Given the description of an element on the screen output the (x, y) to click on. 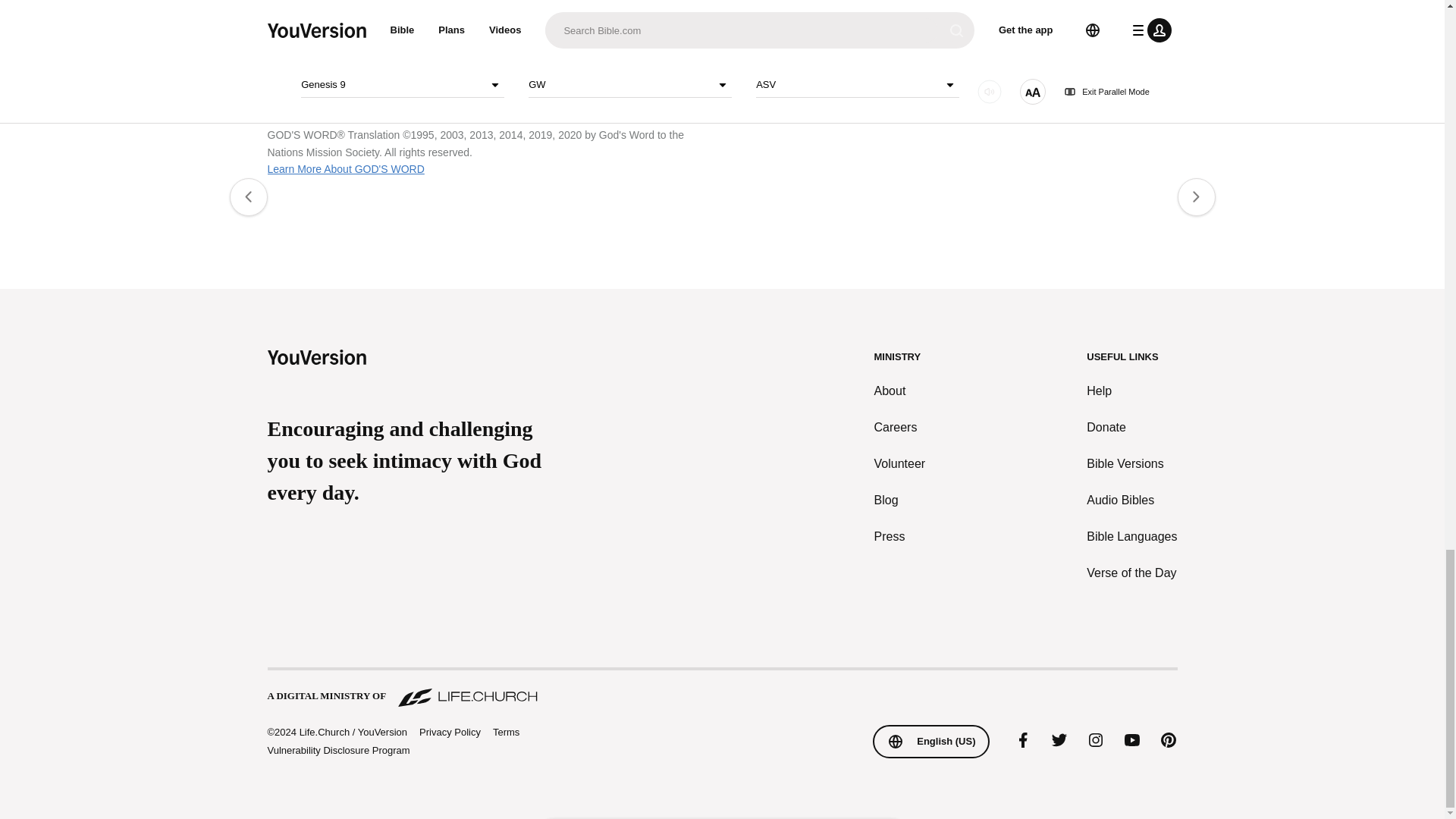
Bible Languages (1131, 536)
Press (900, 536)
Audio Bibles (1131, 500)
Blog (900, 500)
Privacy Policy (449, 732)
Volunteer (900, 464)
Verse of the Day (1131, 573)
A DIGITAL MINISTRY OF (721, 688)
Donate (1131, 427)
Careers (900, 427)
About (900, 391)
Help (1131, 391)
Learn More About American Standard Version (835, 11)
Bible Versions (1131, 464)
Terms (506, 731)
